Given the description of an element on the screen output the (x, y) to click on. 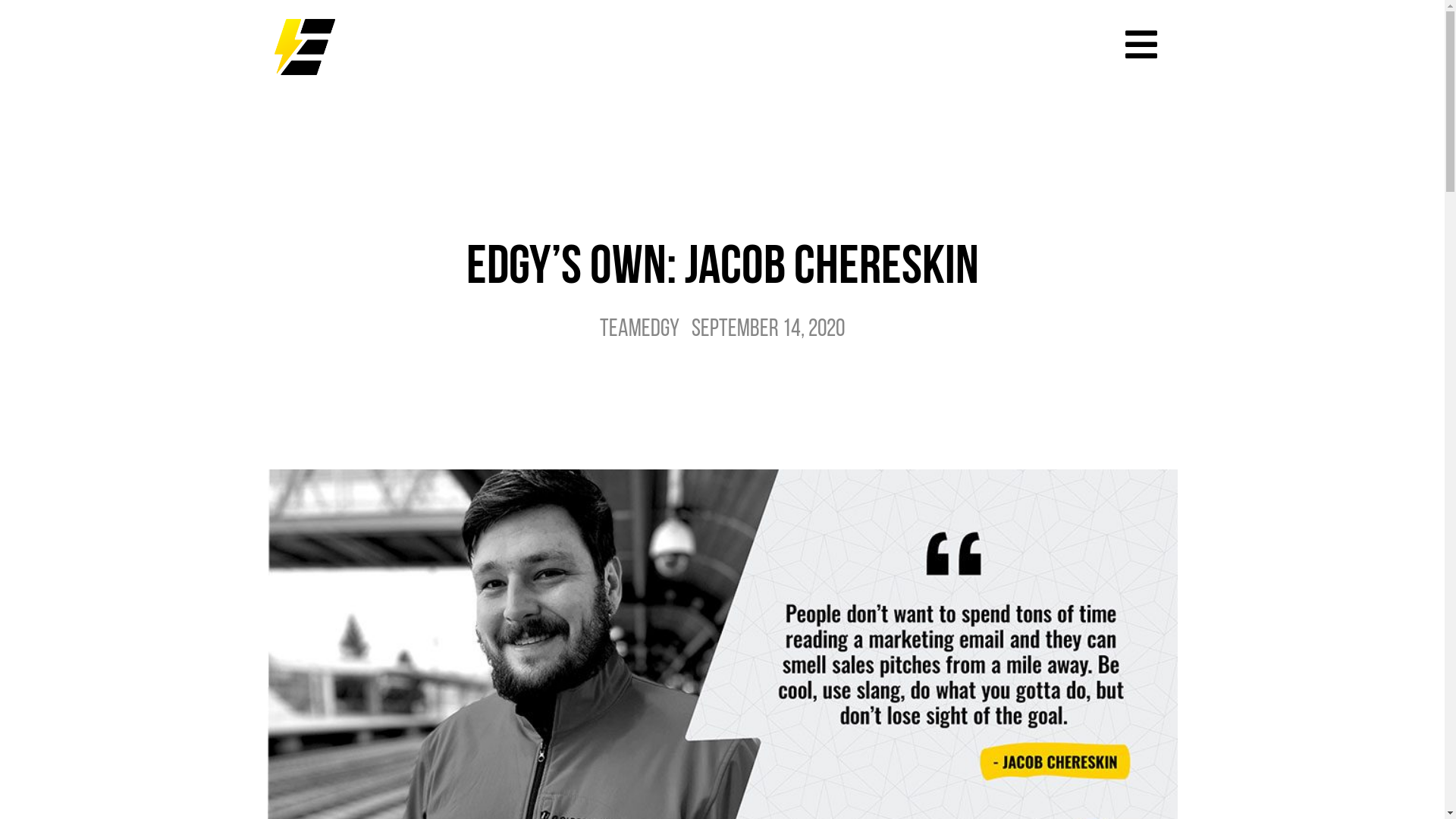
teamedgy Element type: text (639, 329)
September 14, 2020 Element type: text (767, 329)
